Given the description of an element on the screen output the (x, y) to click on. 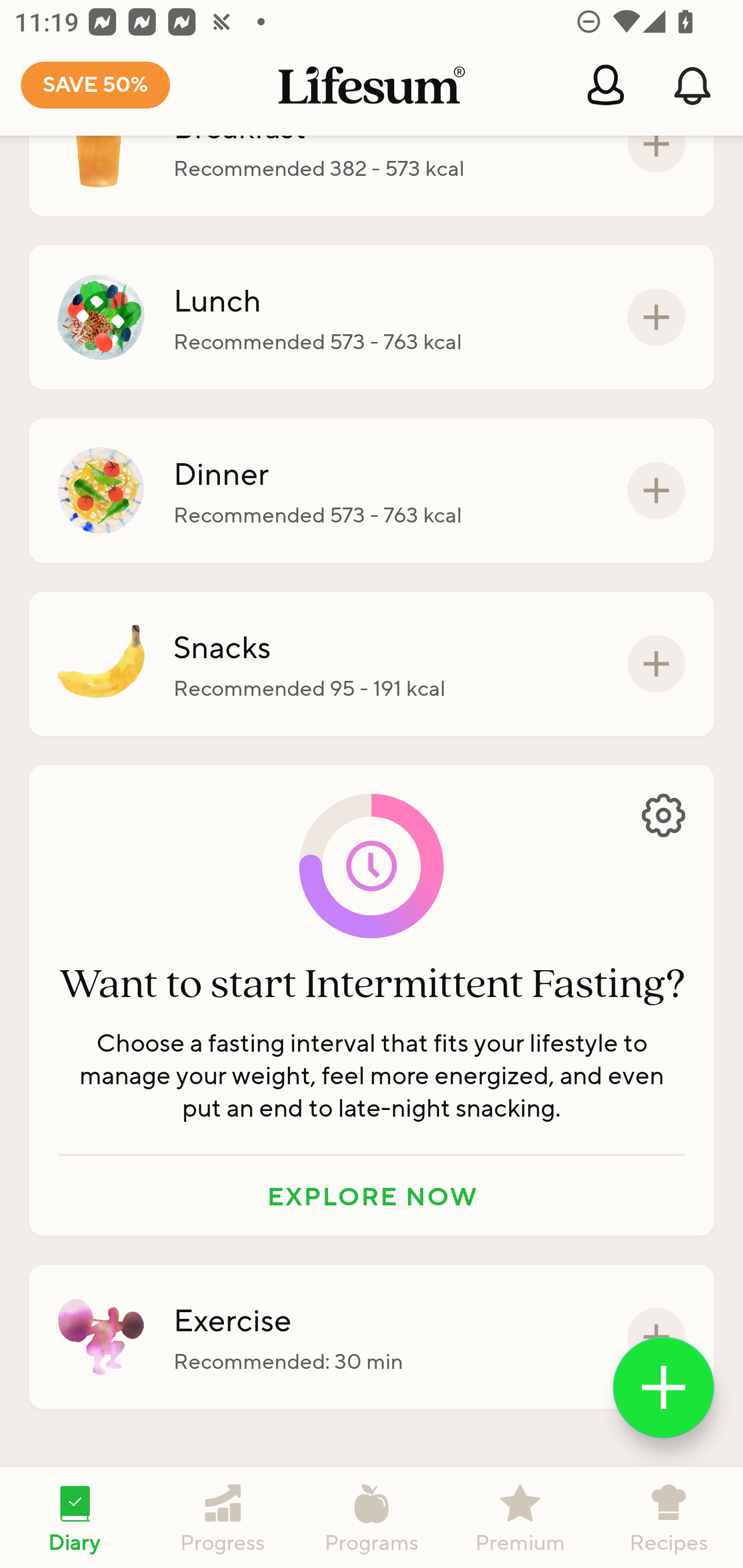
Lunch Recommended 573 - 763 kcal (371, 316)
Dinner Recommended 573 - 763 kcal (371, 490)
Snacks Recommended 95 - 191 kcal (371, 663)
EXPLORE NOW (371, 1195)
Exercise Recommended: 30 min (371, 1337)
Progress (222, 1517)
Programs (371, 1517)
Premium (519, 1517)
Recipes (668, 1517)
